Given the description of an element on the screen output the (x, y) to click on. 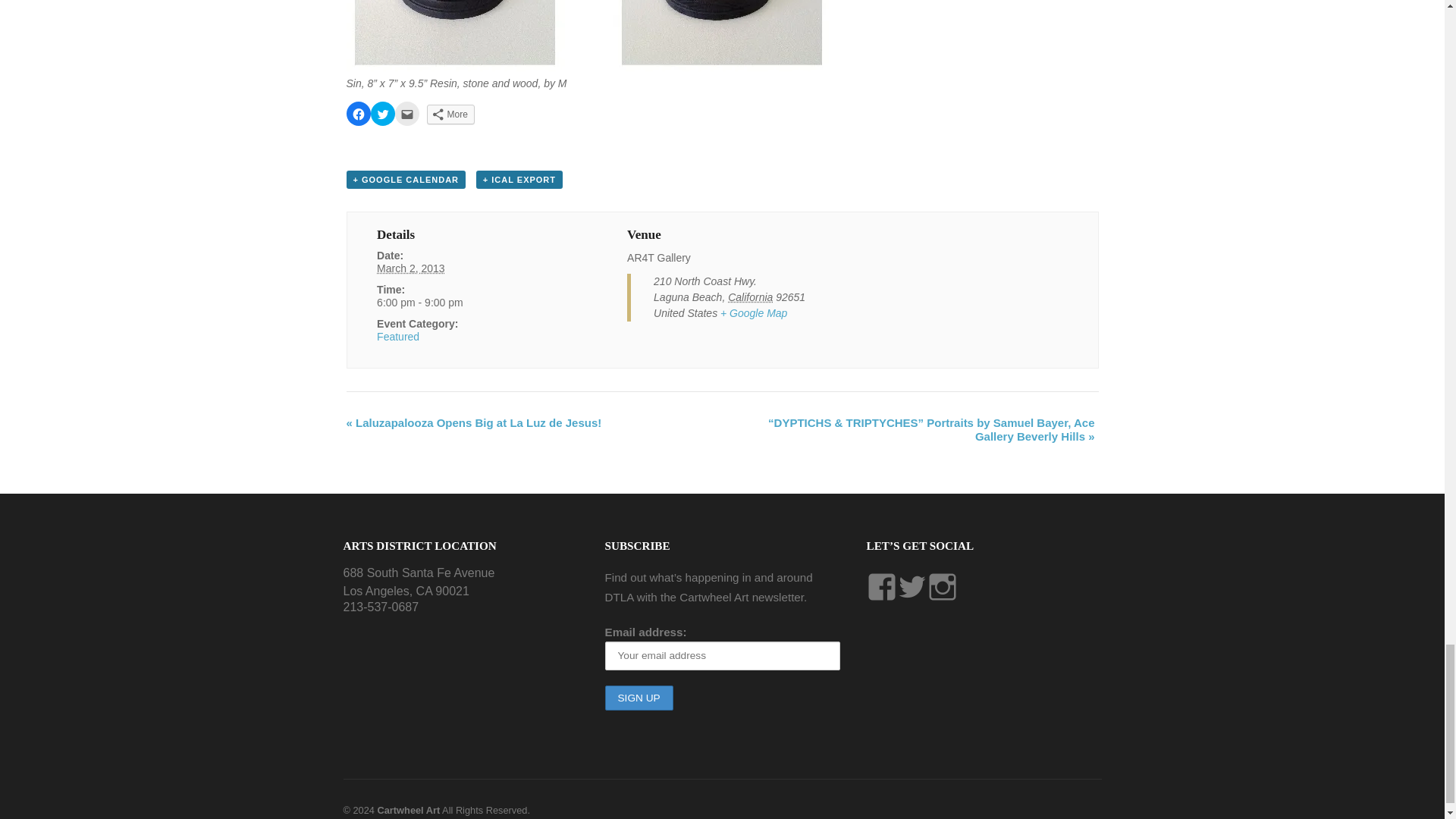
Click to view a Google Map (753, 313)
Click to email this to a friend (406, 113)
Featured (398, 336)
2013-03-02 (411, 268)
California (750, 297)
More (450, 114)
Sign up (638, 697)
Sign up (638, 697)
2013-03-02 (472, 302)
Click to share on Facebook (357, 113)
